Given the description of an element on the screen output the (x, y) to click on. 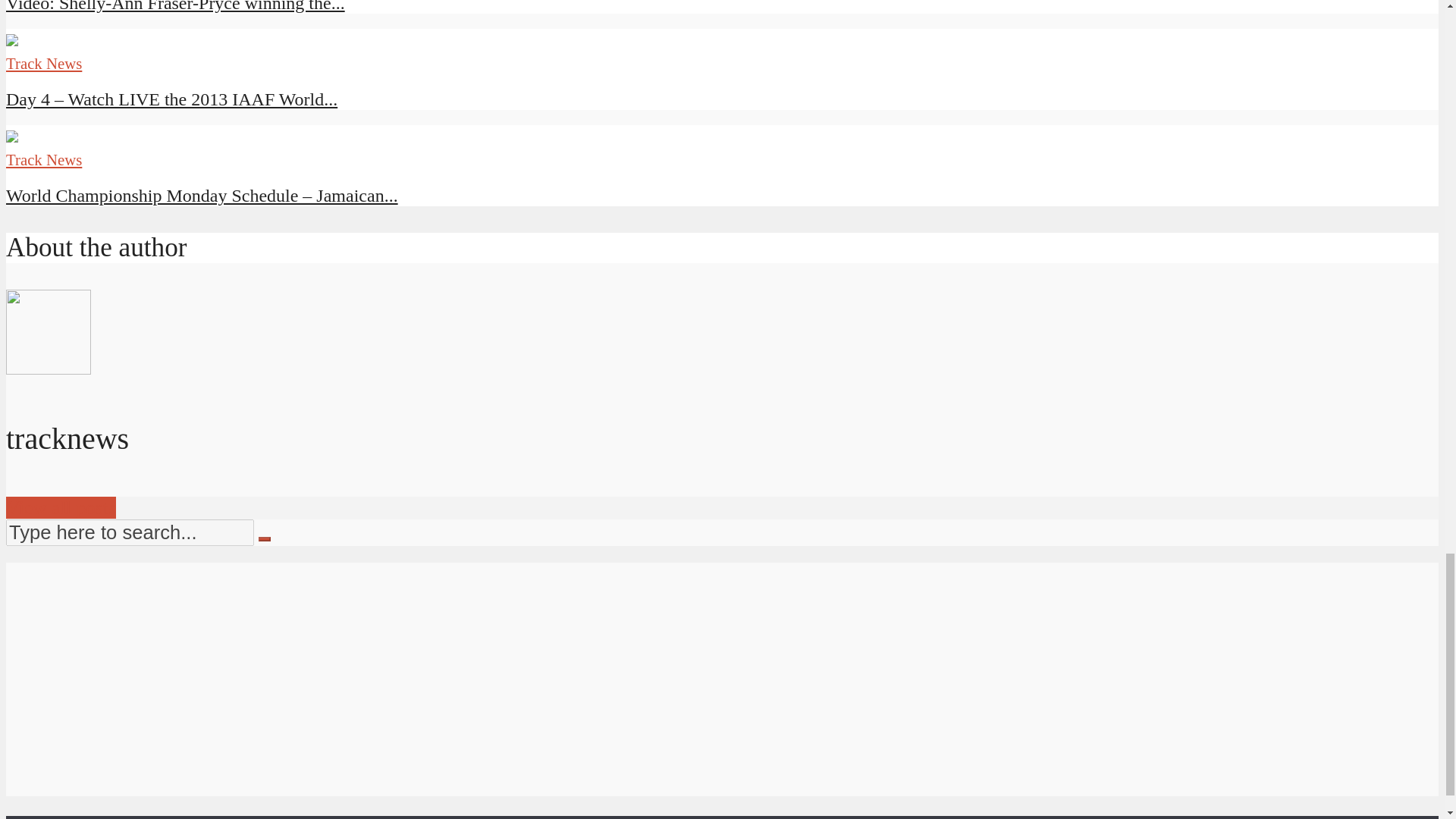
Track News (43, 63)
Type here to search... (129, 532)
Video: Shelly-Ann Fraser-Pryce winning the... (175, 6)
Type here to search... (129, 532)
Track News (43, 159)
